Given the description of an element on the screen output the (x, y) to click on. 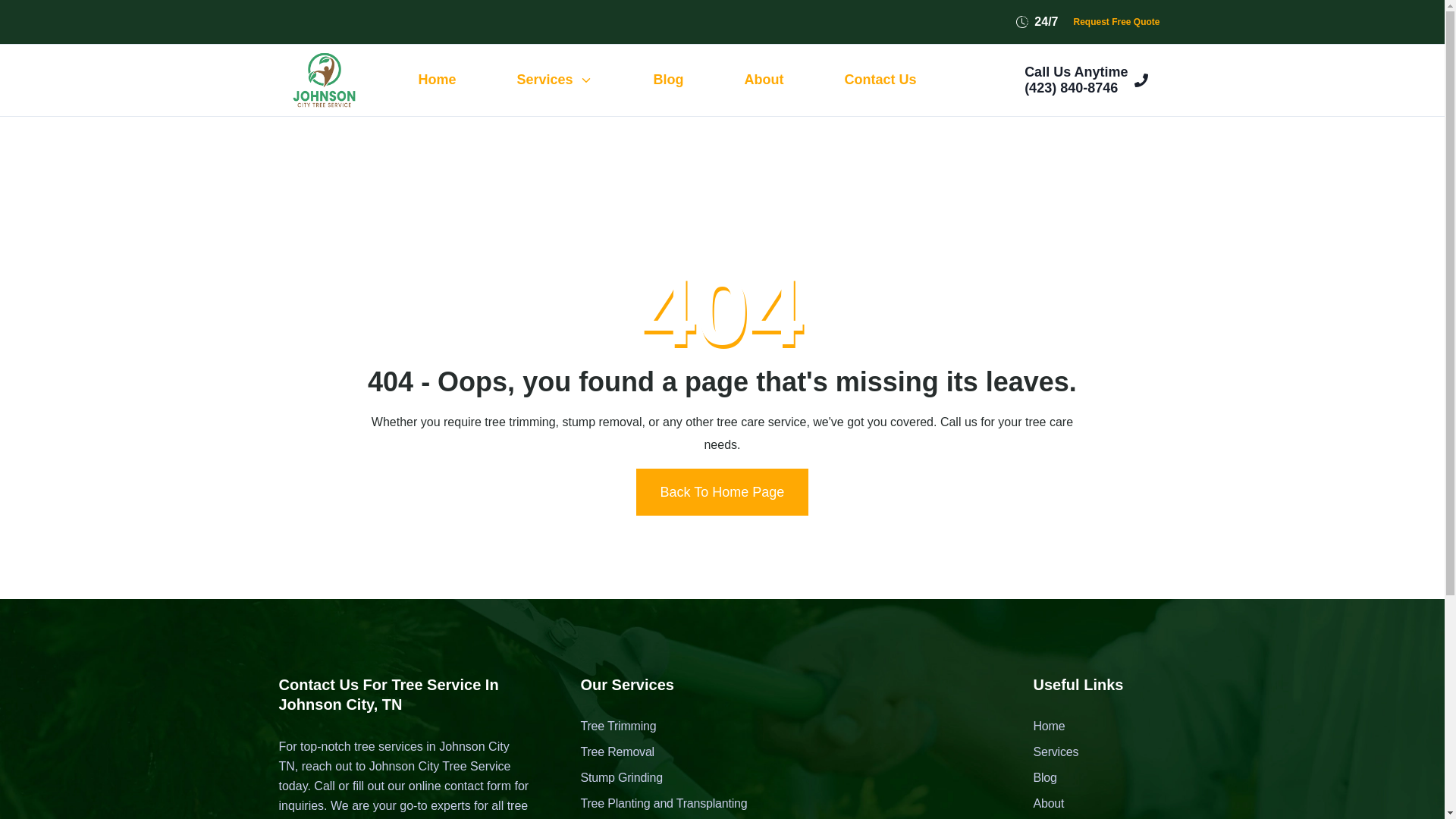
Request Free Quote (1116, 22)
Services (1061, 751)
online contact form (460, 785)
Stump Grinding (662, 778)
Contact Us (880, 80)
Tree Removal (662, 751)
Back To Home Page (722, 491)
Home (1061, 726)
Tree Trimming (662, 726)
Blog (667, 80)
About (764, 80)
Services (555, 80)
About (1061, 803)
Home (437, 80)
Blog (1061, 778)
